Given the description of an element on the screen output the (x, y) to click on. 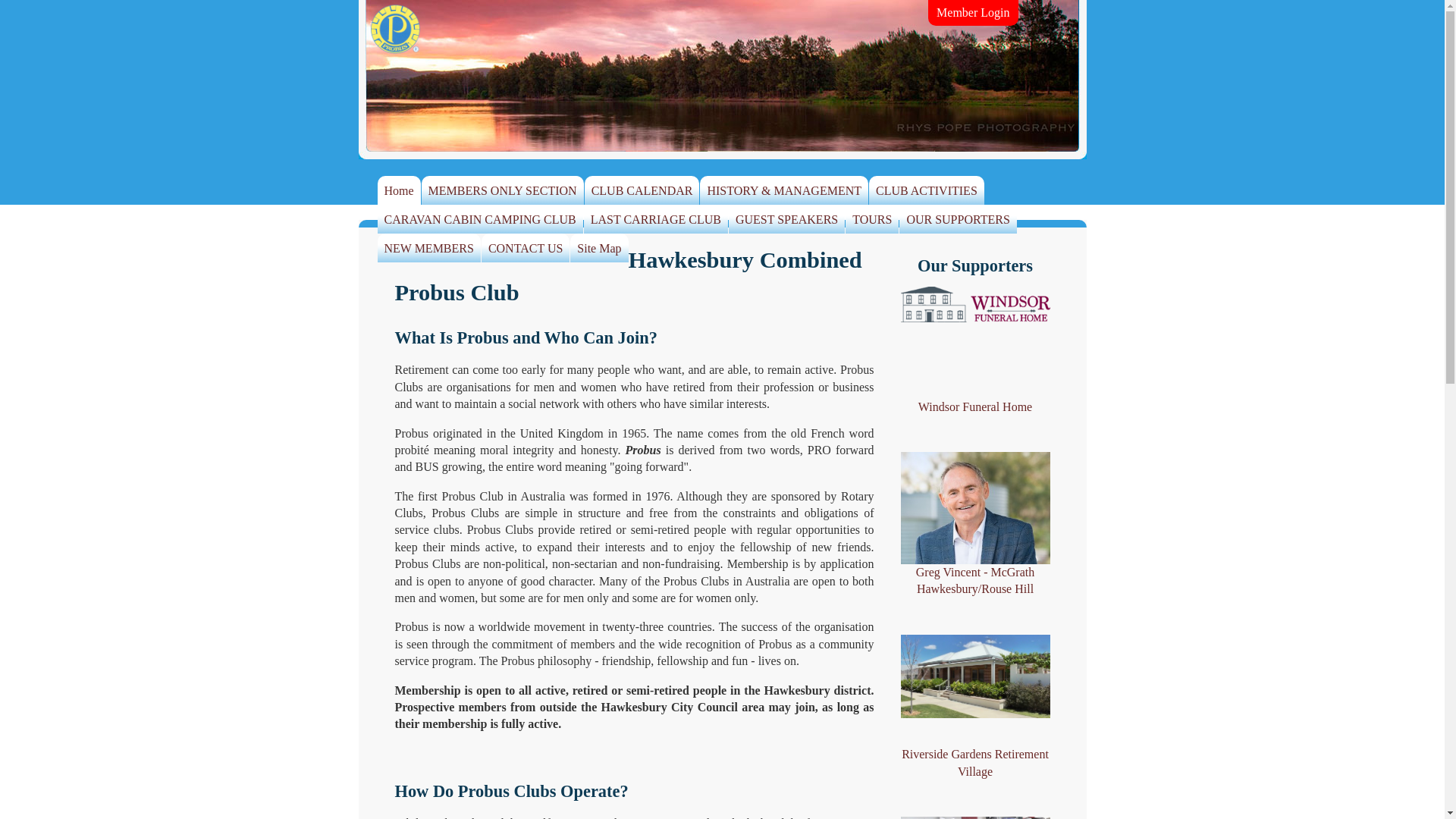
Home Element type: text (398, 190)
CONTACT US Element type: text (525, 248)
Site Map Element type: text (598, 248)
OUR SUPPORTERS Element type: text (957, 219)
CLUB CALENDAR Element type: text (641, 190)
LAST CARRIAGE CLUB Element type: text (655, 219)
MEMBERS ONLY SECTION Element type: text (502, 190)
CLUB ACTIVITIES Element type: text (926, 190)
Greg Vincent - McGrath Hawkesbury/Rouse Hill Element type: text (975, 524)
GUEST SPEAKERS Element type: text (786, 219)
CARAVAN CABIN CAMPING CLUB Element type: text (480, 219)
Riverside Gardens Retirement Village Element type: text (975, 707)
NEW MEMBERS Element type: text (428, 248)
Windsor Funeral Home Element type: text (975, 350)
Member Login Element type: text (972, 12)
TOURS Element type: text (871, 219)
HISTORY & MANAGEMENT Element type: text (783, 190)
